Given the description of an element on the screen output the (x, y) to click on. 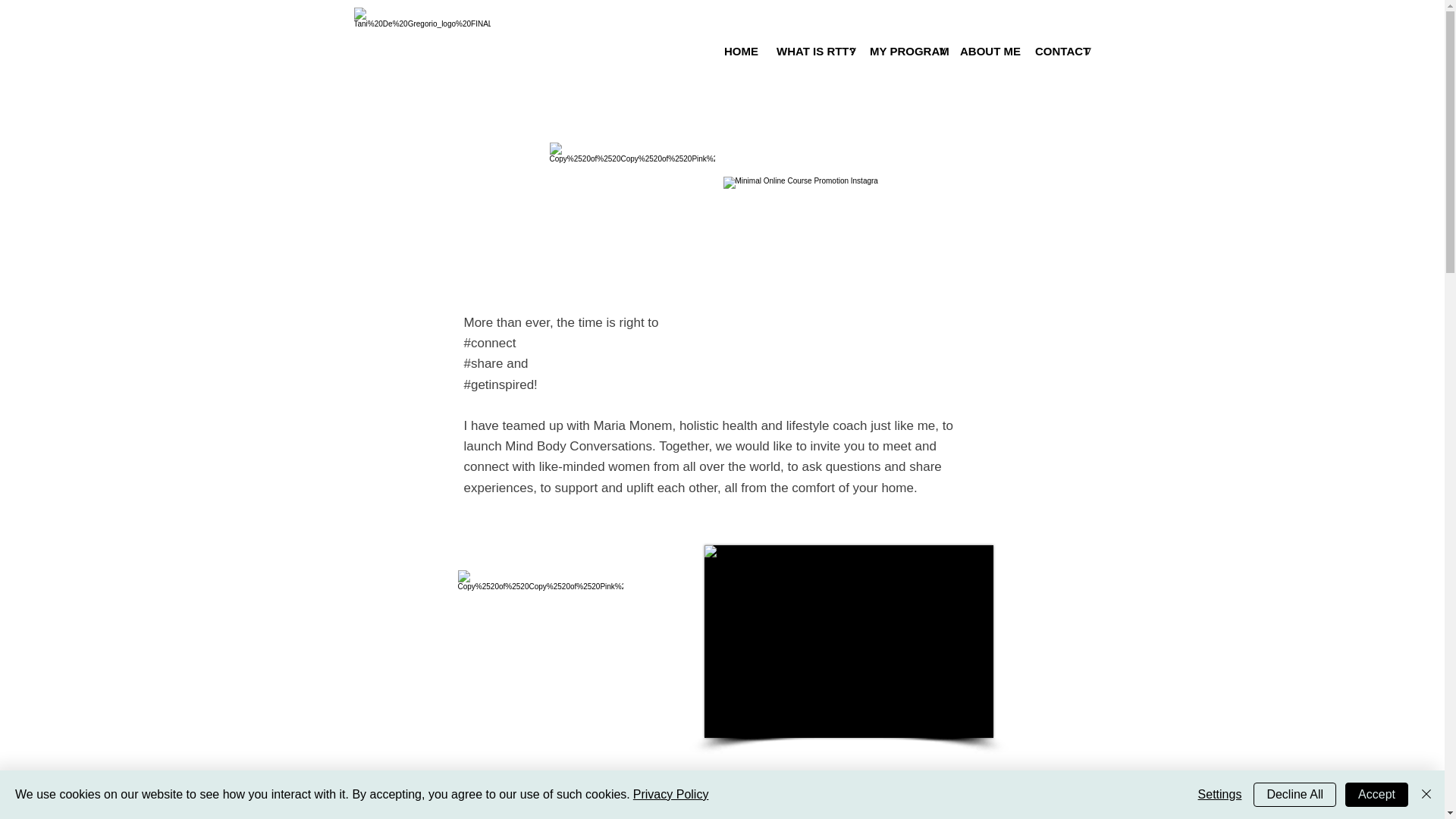
WHAT IS RTT? (812, 51)
Decline All (1294, 794)
Accept (1376, 794)
ABOUT ME (986, 51)
CONTACT (1058, 51)
HOME (739, 51)
MY PROGRAM (904, 51)
Privacy Policy (671, 793)
